Given the description of an element on the screen output the (x, y) to click on. 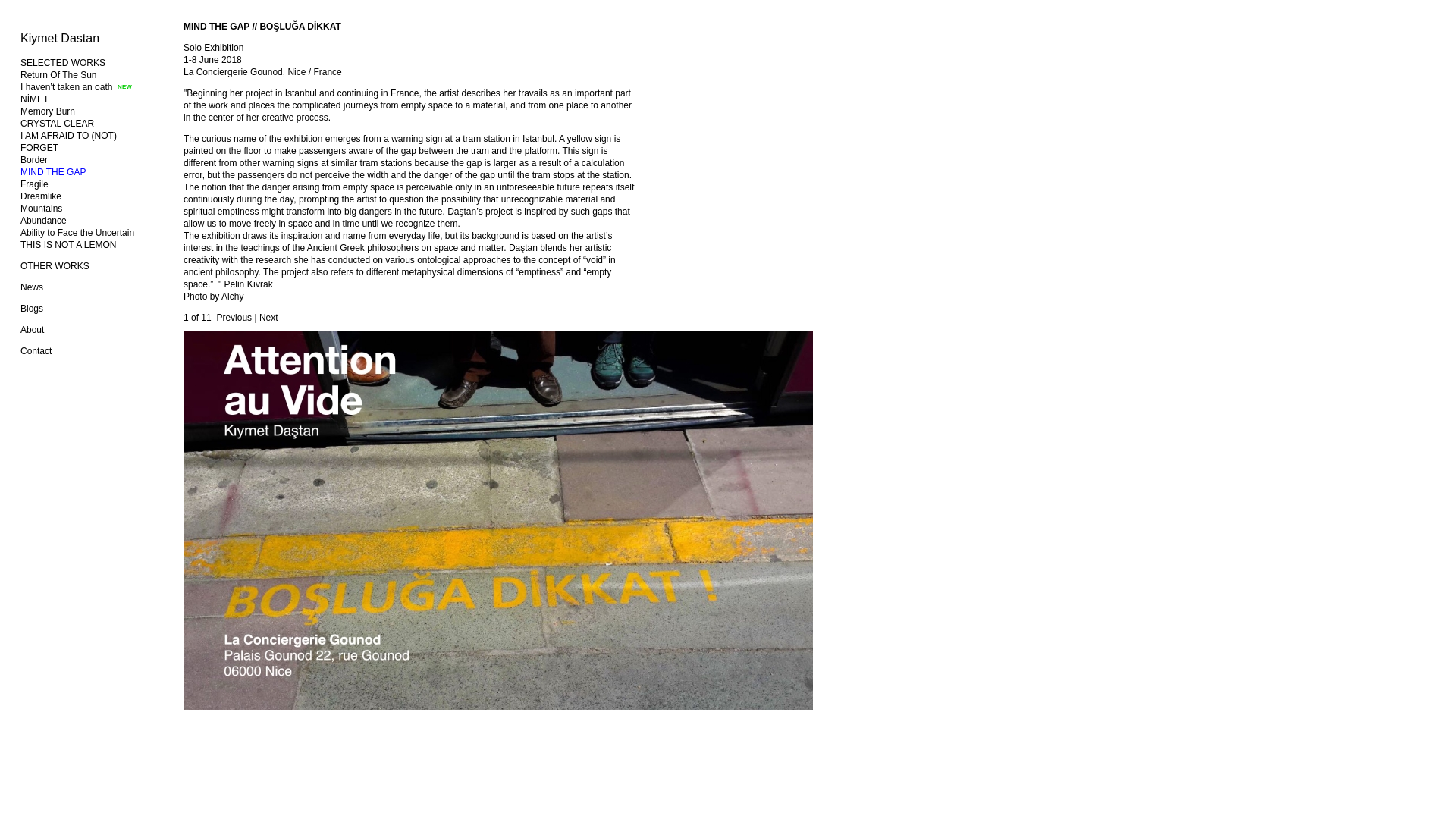
Contact (35, 350)
Blogs (31, 308)
Border (34, 159)
MIND THE GAP (52, 172)
THIS IS NOT A LEMON (68, 244)
Ability to Face the Uncertain (76, 232)
About (31, 329)
Kiymet Dastan (59, 38)
Kiymet Dastan (59, 38)
CRYSTAL CLEAR (57, 122)
